Given the description of an element on the screen output the (x, y) to click on. 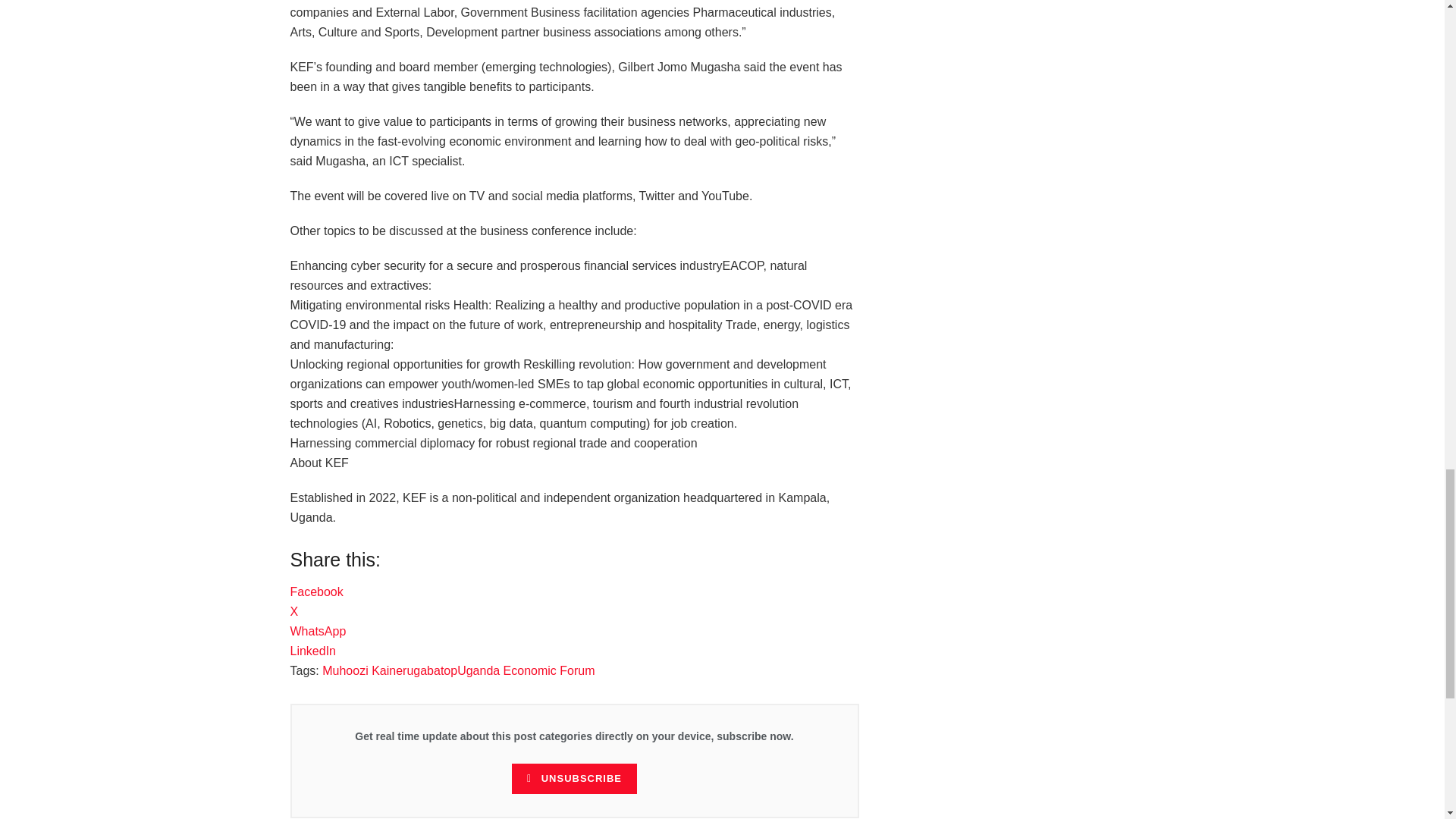
Click to share on LinkedIn (312, 650)
Click to share on Facebook (315, 591)
Click to share on WhatsApp (317, 631)
